Given the description of an element on the screen output the (x, y) to click on. 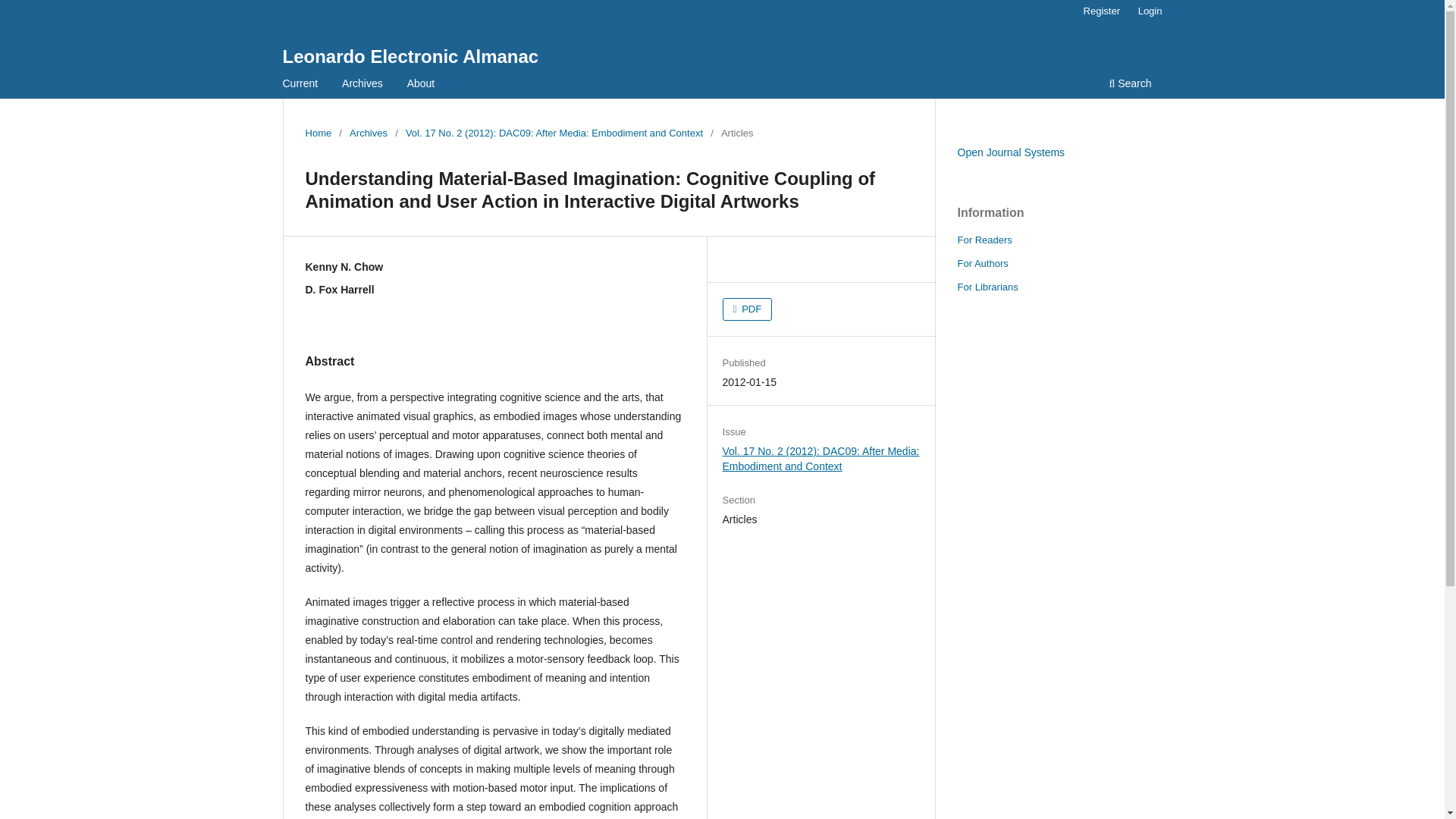
For Authors (981, 263)
Home (317, 133)
Register (1100, 11)
Current (300, 85)
Login (1150, 11)
Open Journal Systems (1010, 152)
PDF (747, 309)
Archives (368, 133)
Leonardo Electronic Almanac (410, 56)
For Librarians (986, 286)
About (421, 85)
Search (1129, 85)
Archives (362, 85)
For Readers (983, 239)
